Given the description of an element on the screen output the (x, y) to click on. 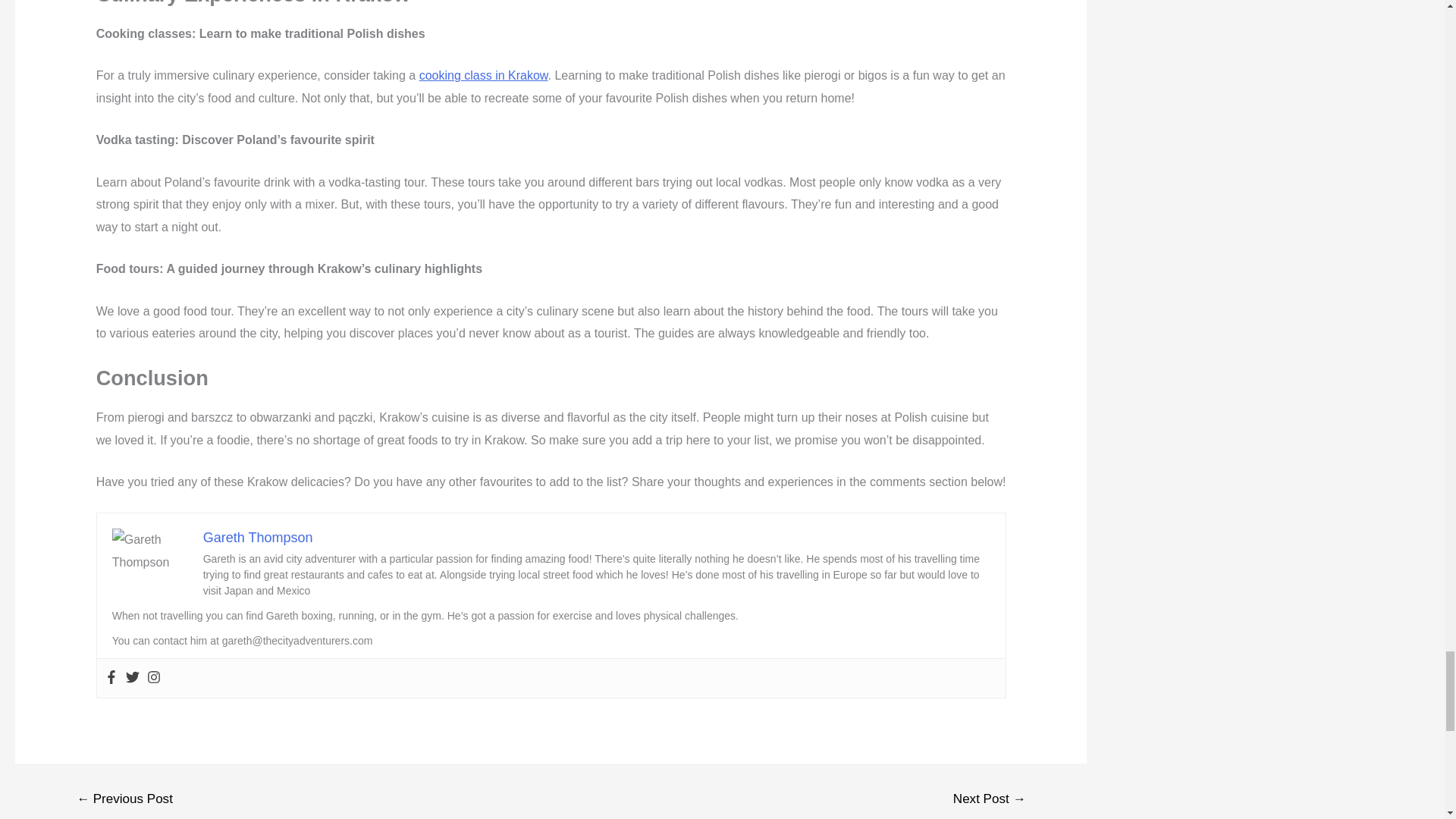
cooking class in Krakow (483, 74)
Gareth Thompson (258, 537)
